Given the description of an element on the screen output the (x, y) to click on. 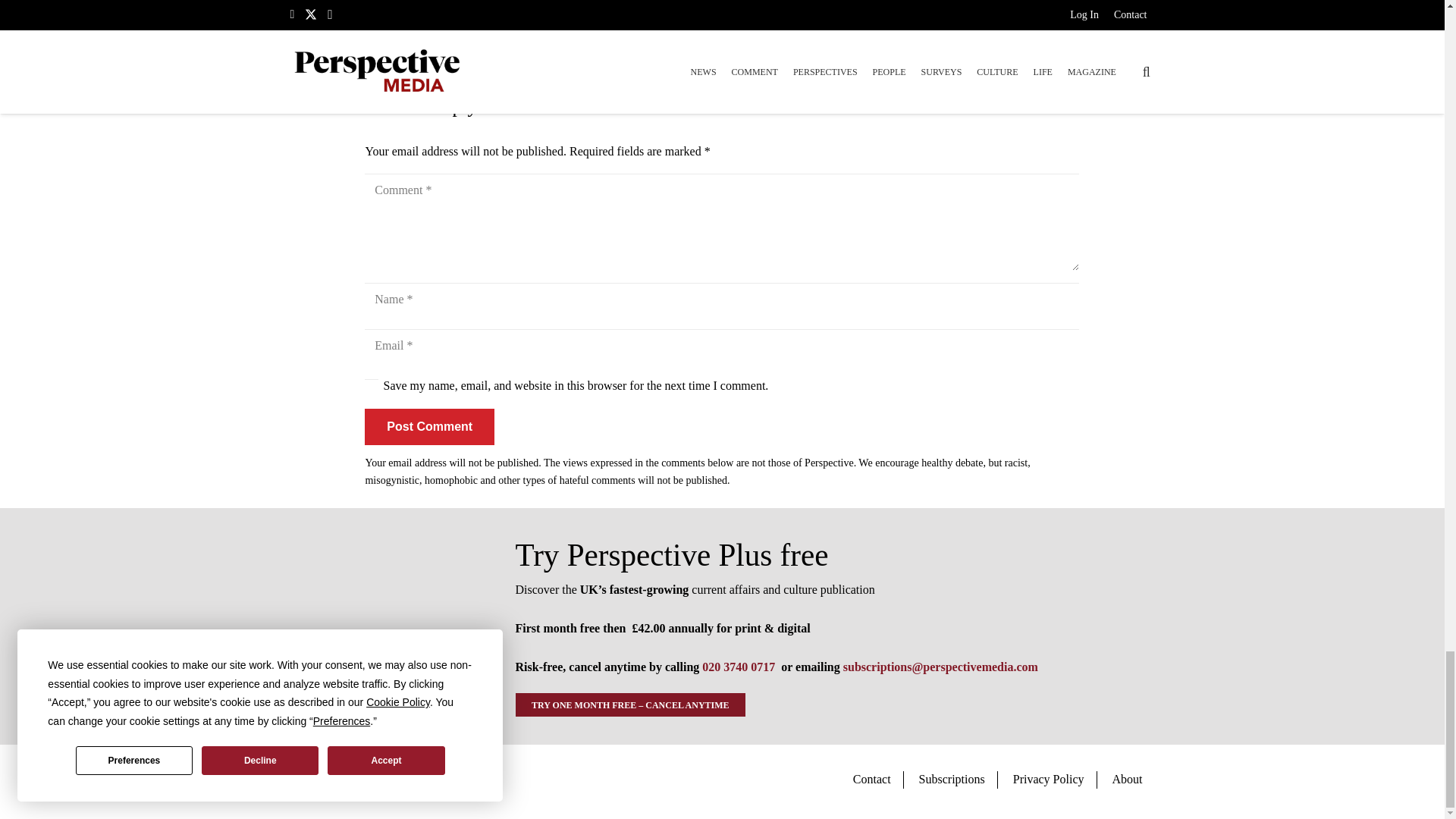
020 3740 0717 (737, 666)
Post Comment (430, 426)
News (378, 57)
Trial Offer (383, 626)
1 (371, 386)
Claim Offer (722, 12)
